Given the description of an element on the screen output the (x, y) to click on. 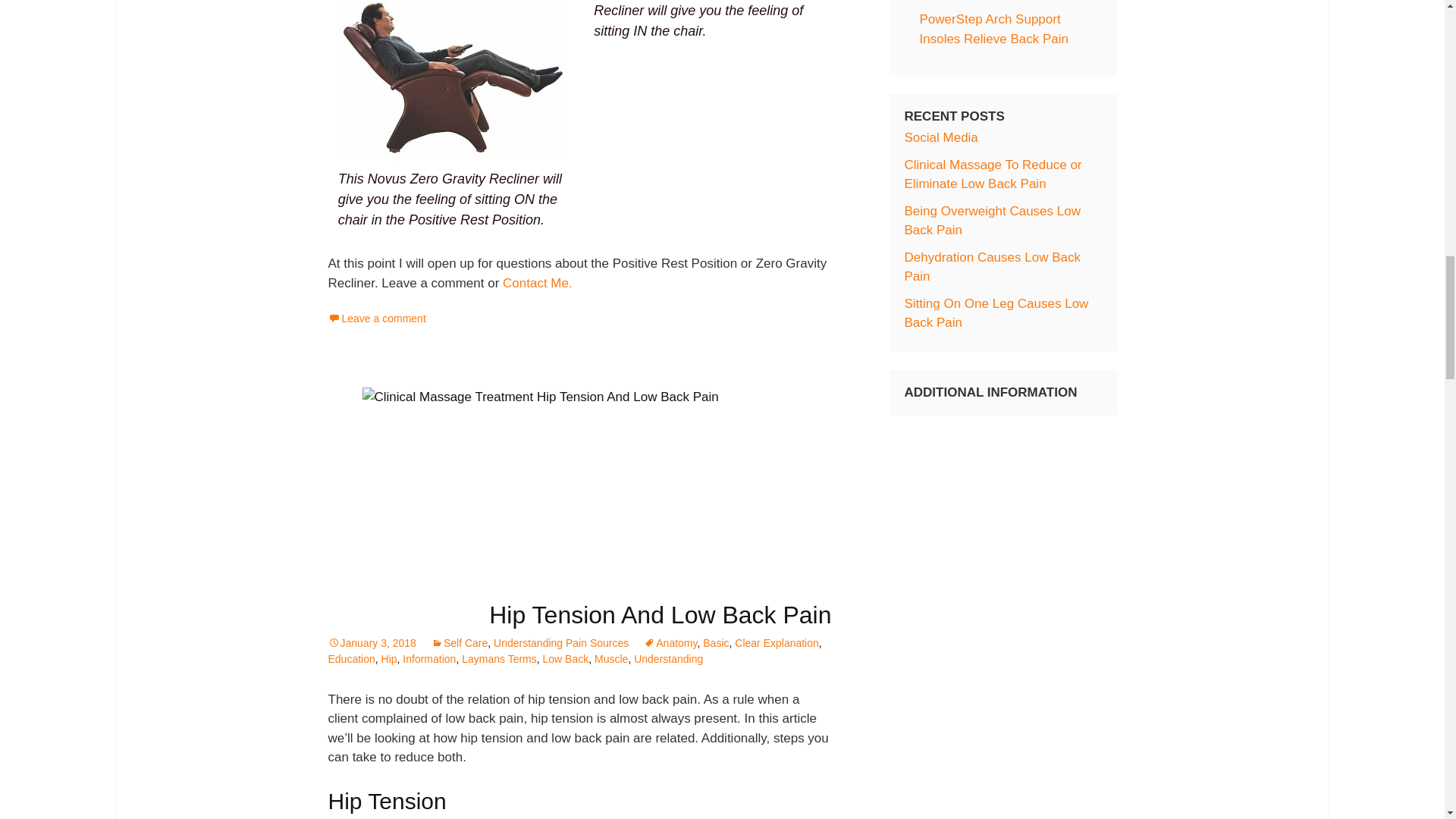
Basic (716, 643)
Clear Explanation (776, 643)
Contact Me. (537, 283)
Leave a comment (376, 318)
Anatomy (670, 643)
January 3, 2018 (370, 643)
Hip Tension And Low Back Pain (660, 614)
Self Care (458, 643)
Permalink to Hip Tension And Low Back Pain (370, 643)
Understanding Pain Sources (560, 643)
Contact StopLowBackPain.com (537, 283)
Education (350, 658)
Novus Chair puts you in the Positive Rest Position (451, 84)
